Given the description of an element on the screen output the (x, y) to click on. 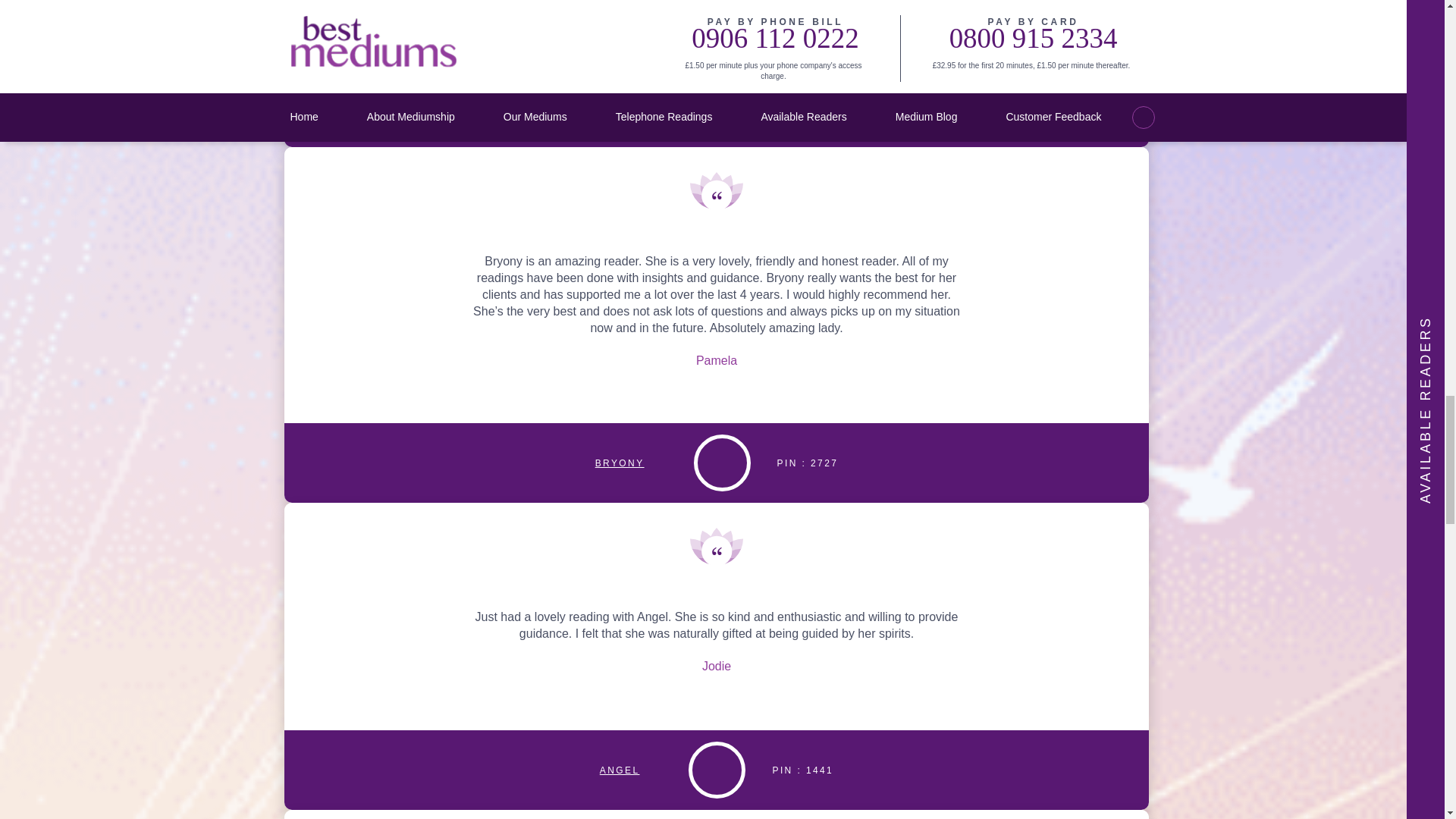
BRYONY (620, 463)
JOHN (619, 106)
ANGEL (619, 769)
